Given the description of an element on the screen output the (x, y) to click on. 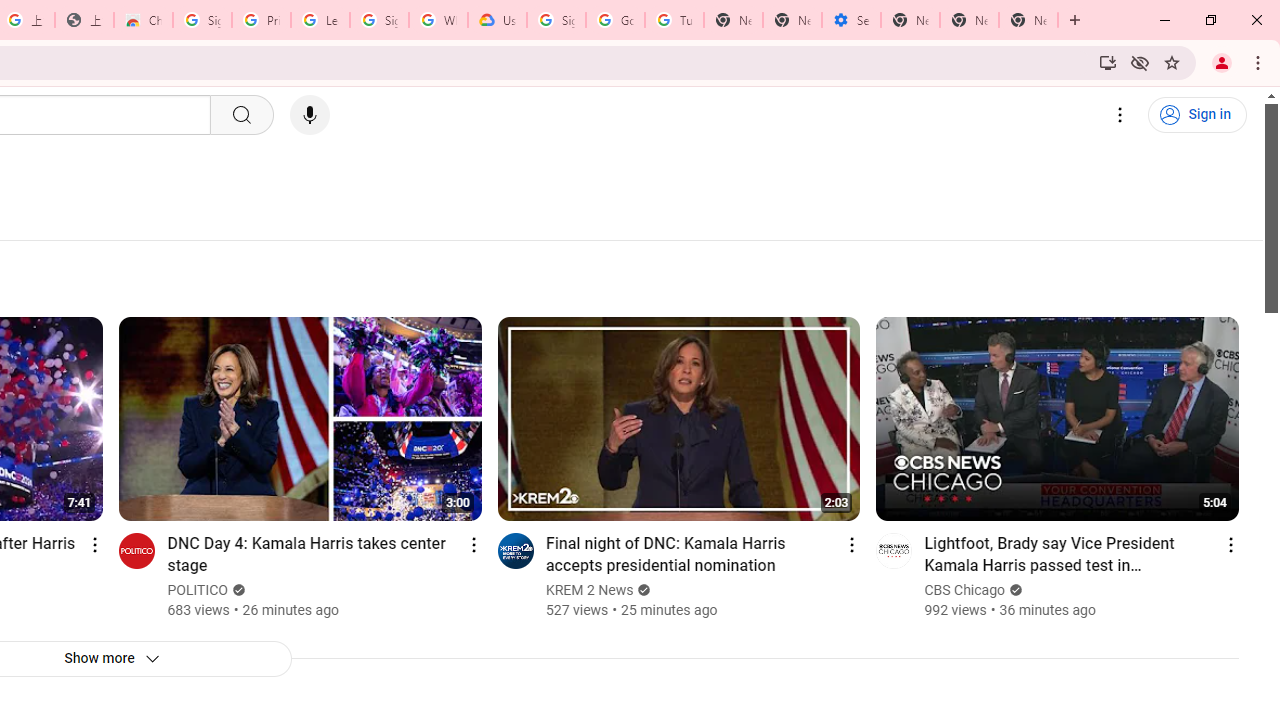
Turn cookies on or off - Computer - Google Account Help (674, 20)
Sign in - Google Accounts (201, 20)
Who are Google's partners? - Privacy and conditions - Google (438, 20)
